Given the description of an element on the screen output the (x, y) to click on. 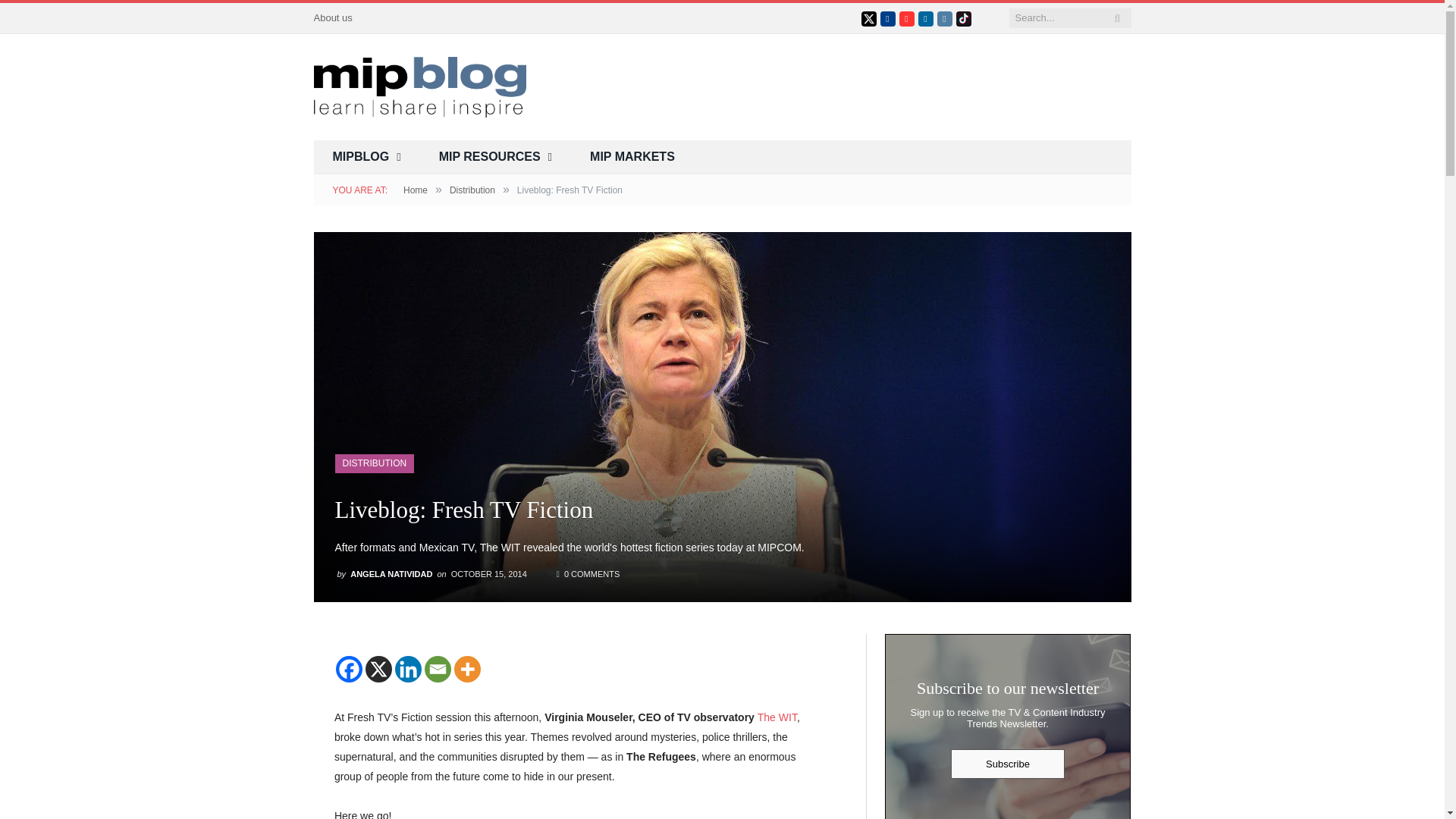
2014-10-15 (488, 573)
Youtube (906, 18)
MIP MARKETS (632, 157)
ANGELA NATIVIDAD (390, 573)
About us (333, 17)
Posts by Angela Natividad (390, 573)
MIP Markets (632, 157)
DISTRIBUTION (374, 462)
LinkedIn (925, 18)
LinkedIn (925, 18)
